Given the description of an element on the screen output the (x, y) to click on. 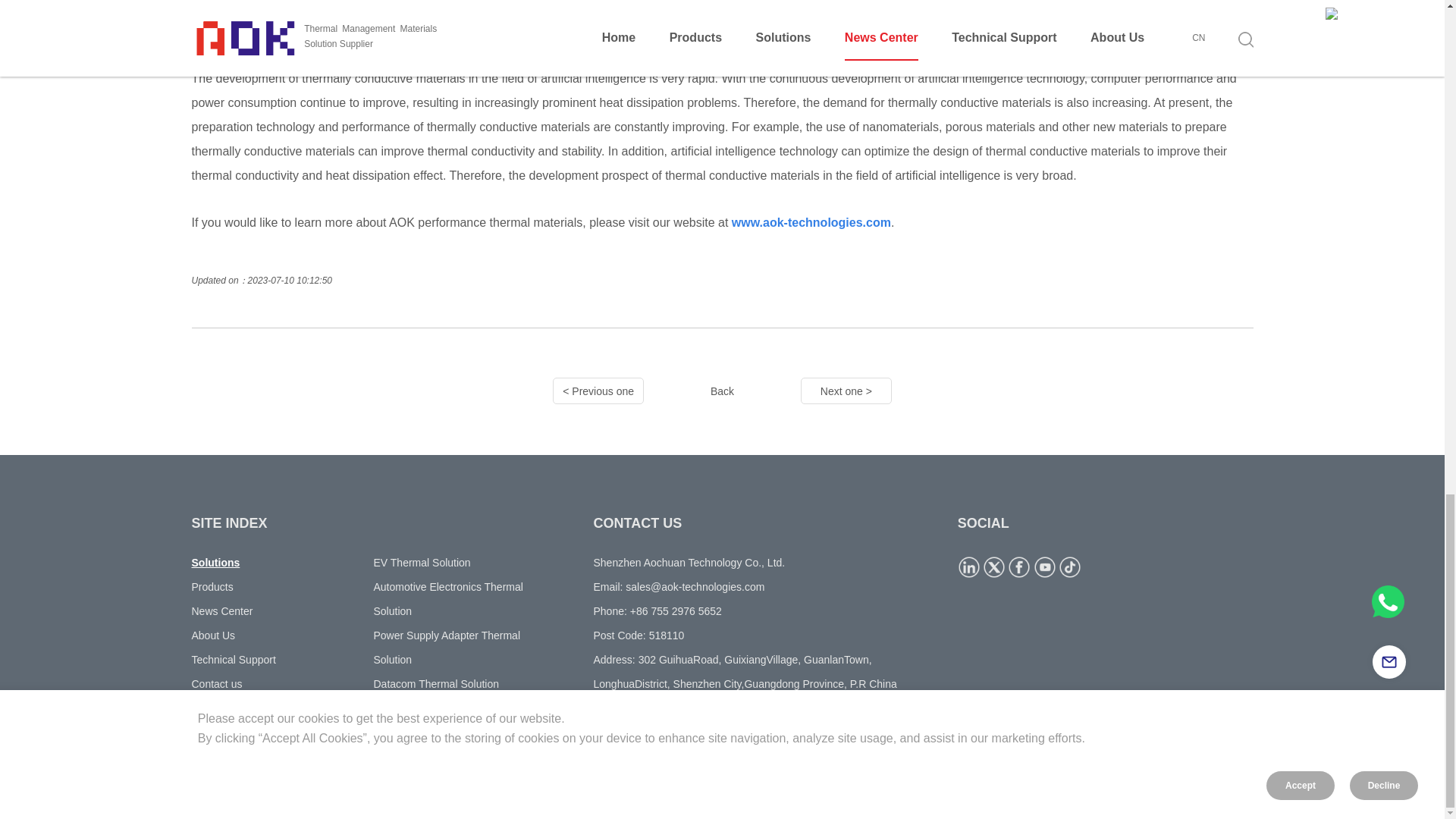
Linkedin (968, 567)
Facebook (1018, 567)
Tiktok (1069, 567)
Youtube (1045, 567)
Twitter (994, 567)
